Given the description of an element on the screen output the (x, y) to click on. 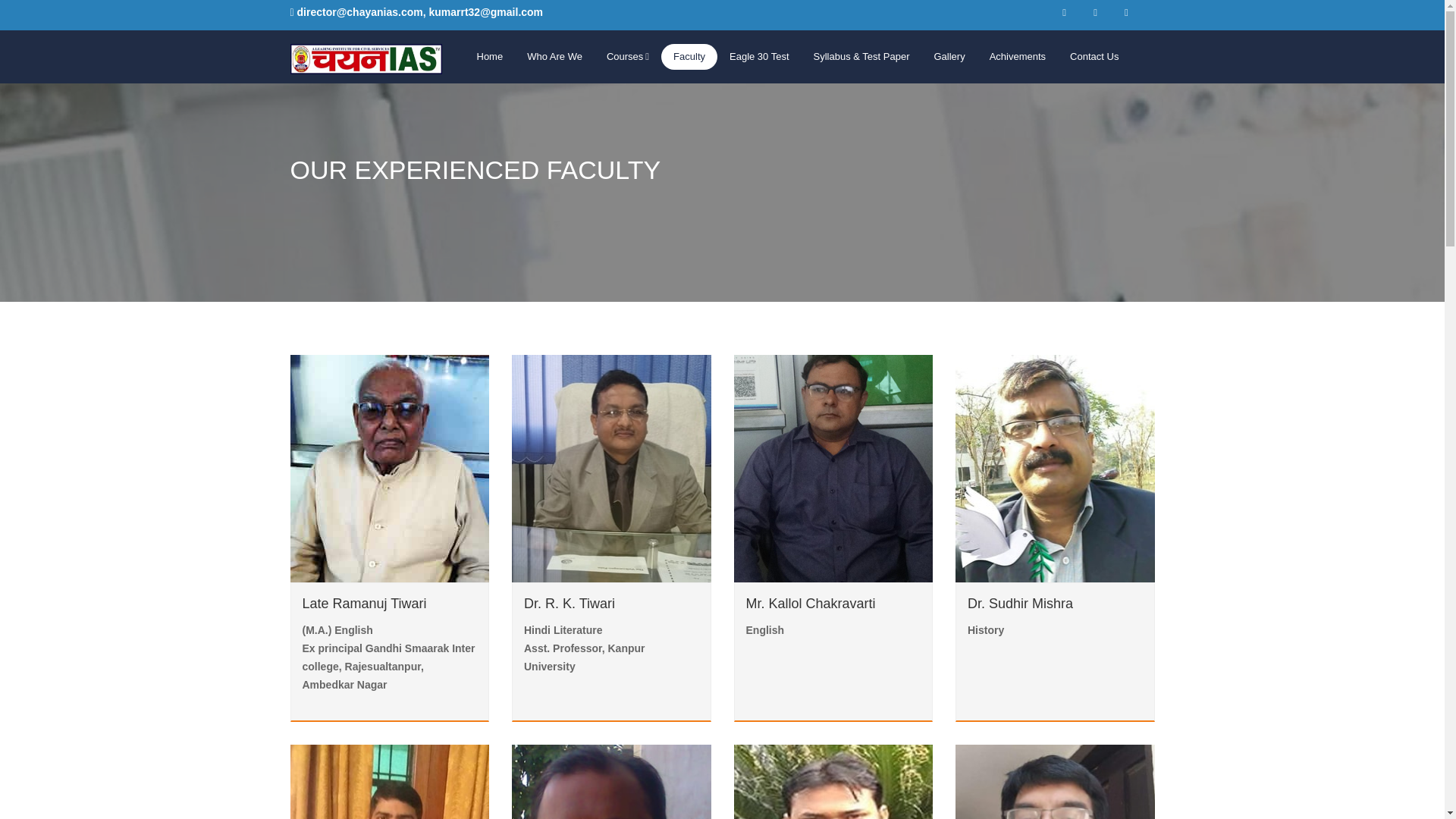
Gallery (948, 57)
Facebook (1063, 12)
Twitter (1095, 12)
Courses (627, 57)
Achivements (1017, 57)
Linkedin (1126, 12)
Eagle 30 Test (759, 57)
Faculty (689, 57)
Home (489, 57)
Who Are We (554, 57)
